Given the description of an element on the screen output the (x, y) to click on. 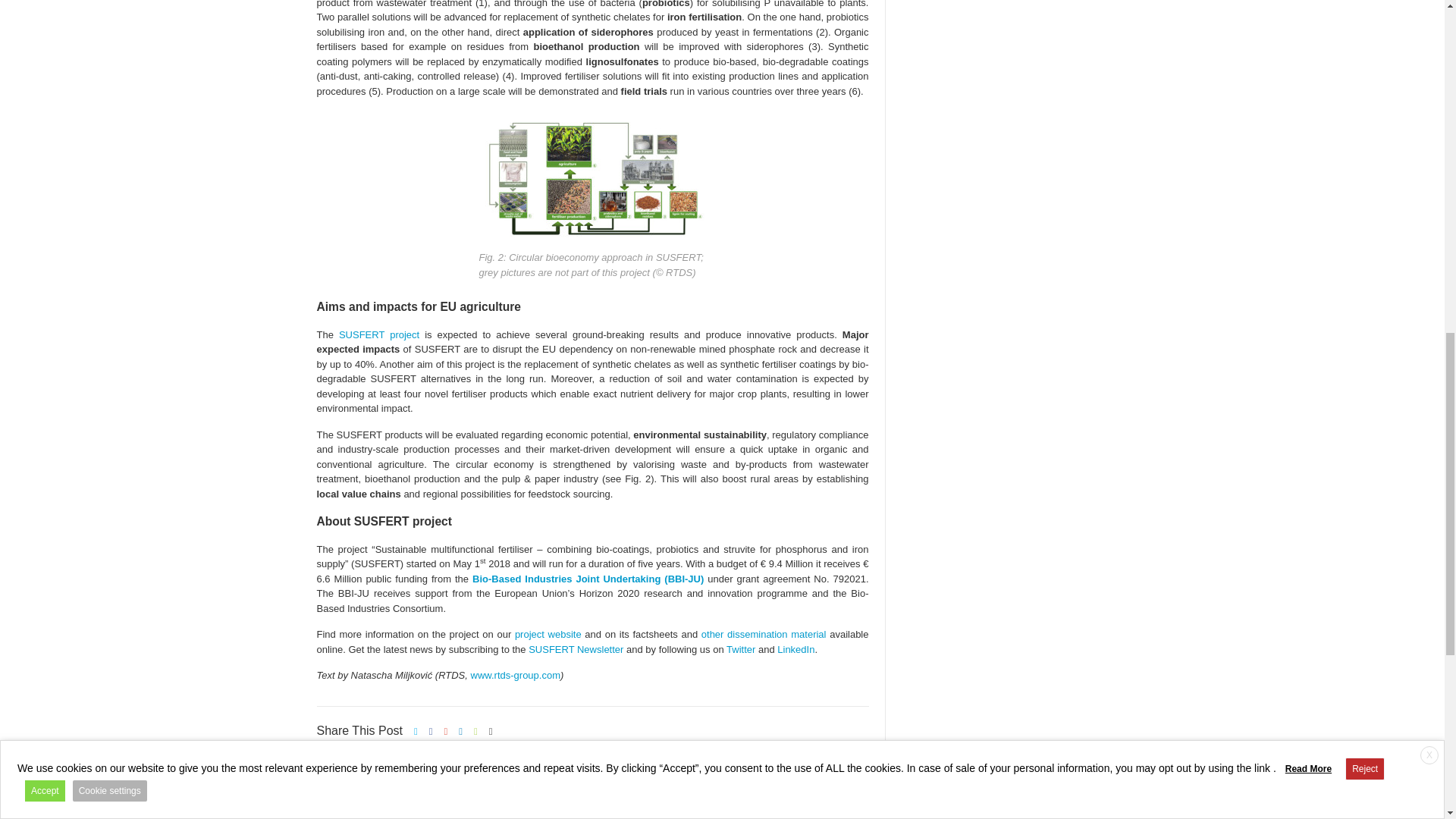
SUSFERT project (379, 334)
project website (547, 633)
www.rtds-group.com (515, 674)
LinkedIn (795, 649)
SUSFERT Newsletter (577, 649)
other dissemination material (764, 633)
Twitter (742, 649)
